Given the description of an element on the screen output the (x, y) to click on. 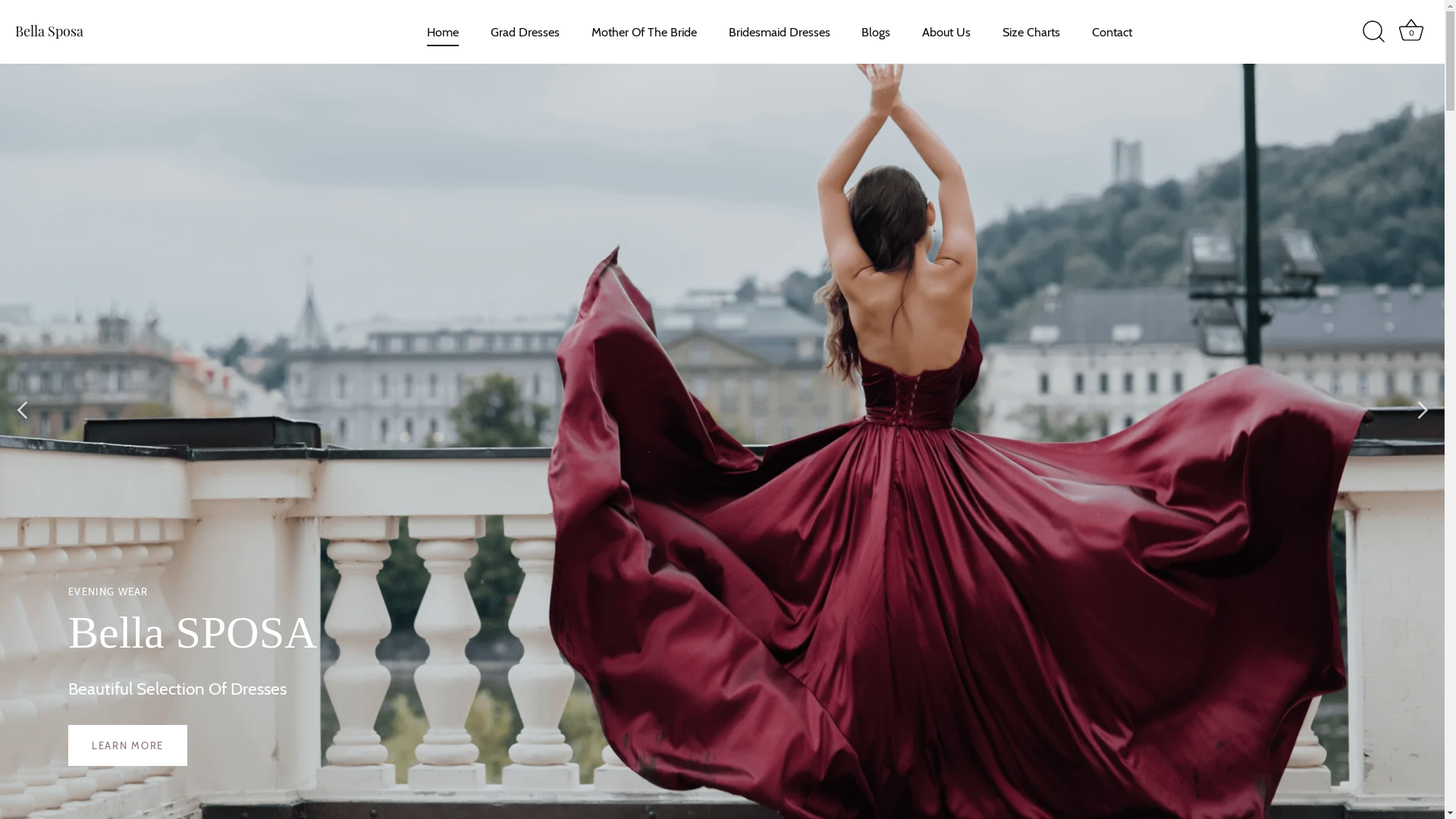
Grad Dresses Element type: text (524, 32)
About Us Element type: text (946, 32)
Bridesmaid Dresses Element type: text (778, 32)
Home Element type: text (442, 32)
Size Charts Element type: text (1031, 32)
Basket
0 Element type: text (1410, 31)
Bella Sposa Element type: text (109, 30)
Blogs Element type: text (876, 32)
Contact Element type: text (1112, 32)
Mother Of The Bride Element type: text (643, 32)
